Given the description of an element on the screen output the (x, y) to click on. 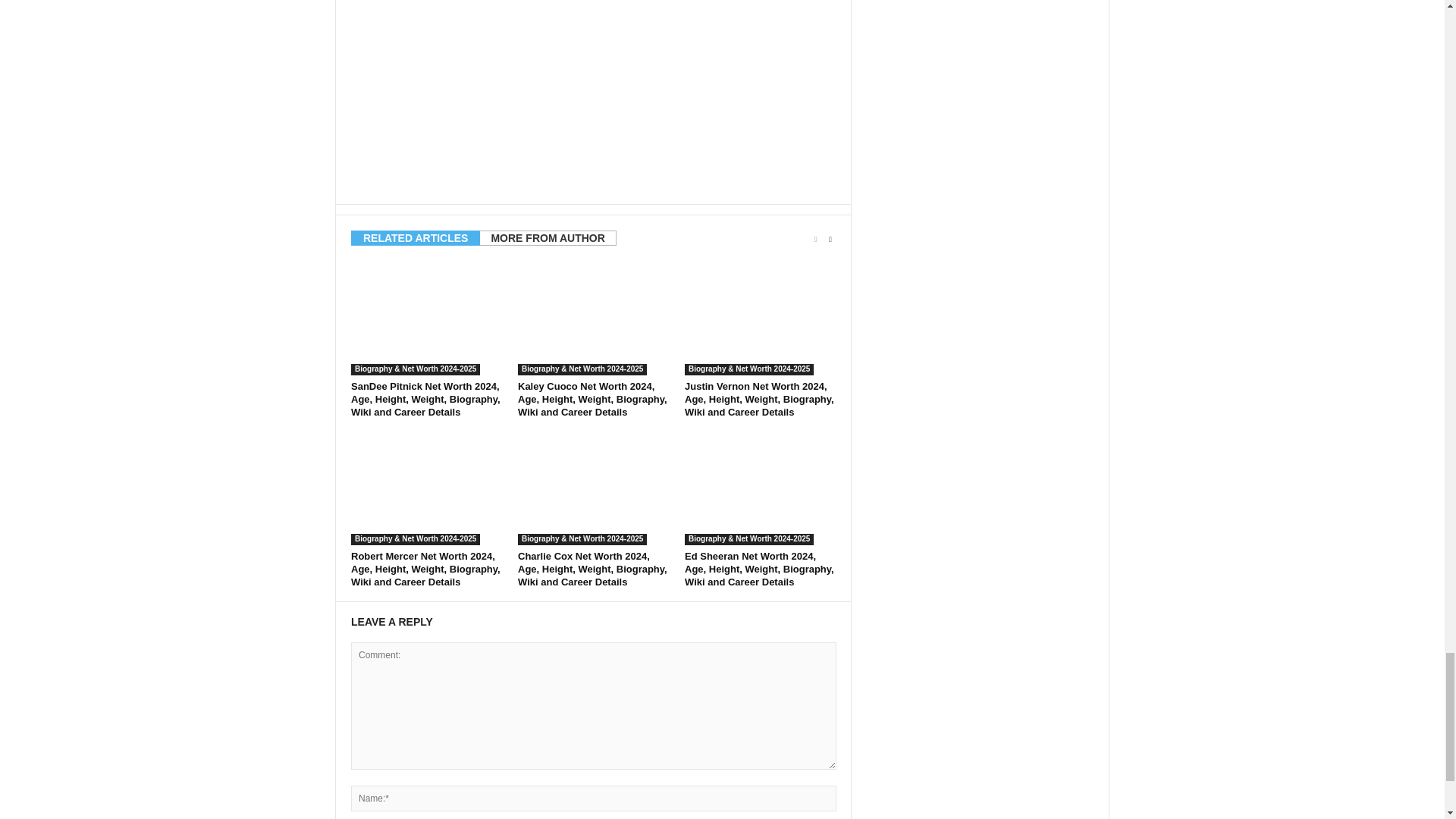
MORE FROM AUTHOR (547, 237)
